Given the description of an element on the screen output the (x, y) to click on. 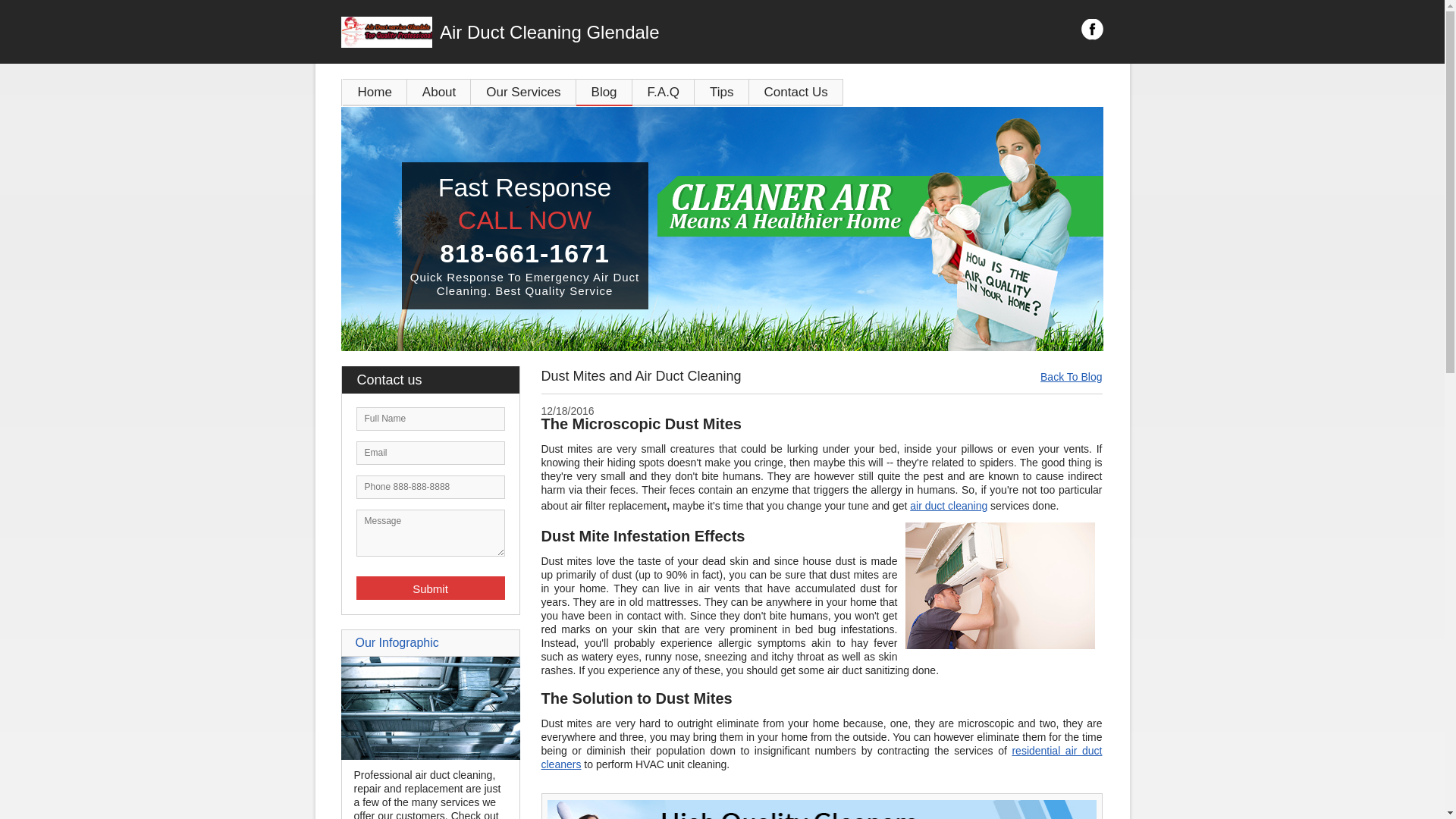
air duct cleaning (948, 505)
Our Infographic (429, 756)
Submit (430, 587)
residential air duct cleaners (821, 757)
Dust Mites and Air Duct Cleaning (999, 585)
Blog (603, 91)
Air Duct Cleaning Glendale (606, 32)
Contact us (437, 379)
Back To Blog (1071, 376)
Facebook (1092, 29)
Facebook (1092, 29)
Air Duct Cleaning Glendale (606, 32)
Our Infographic (396, 642)
air duct cleaning (948, 505)
Our Services (522, 91)
